Given the description of an element on the screen output the (x, y) to click on. 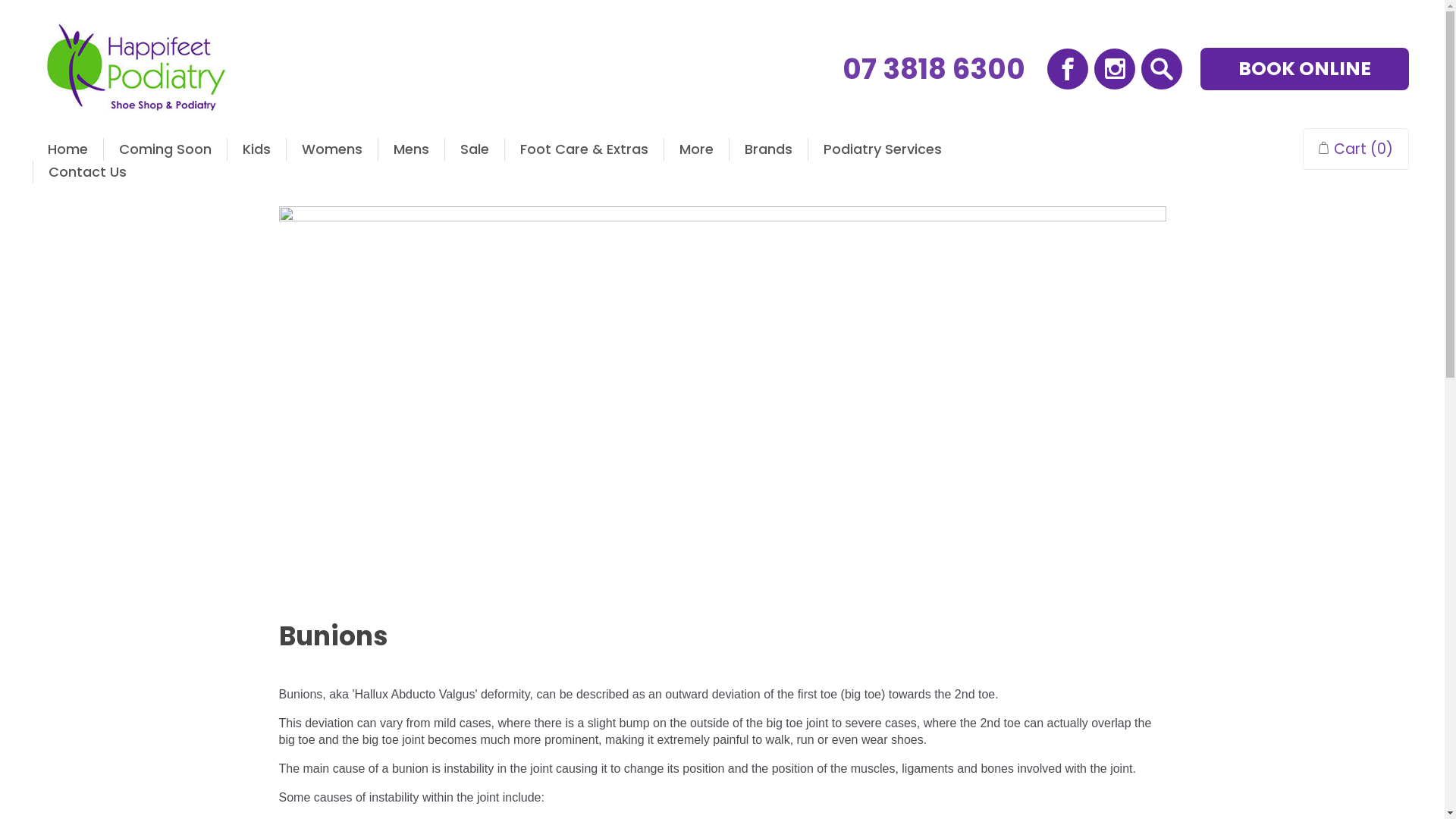
Kids Element type: text (256, 149)
Brands Element type: text (768, 149)
Sale Element type: text (473, 149)
BOOK ONLINE Element type: text (1303, 68)
07 3818 6300 Element type: text (932, 68)
Podiatry Services Element type: text (882, 149)
Foot Care & Extras Element type: text (584, 149)
More Element type: text (696, 149)
Cart (0) Element type: text (1354, 148)
Mens Element type: text (410, 149)
Contact Us Element type: text (87, 171)
Home Element type: text (67, 149)
Womens Element type: text (331, 149)
Coming Soon Element type: text (164, 149)
